Given the description of an element on the screen output the (x, y) to click on. 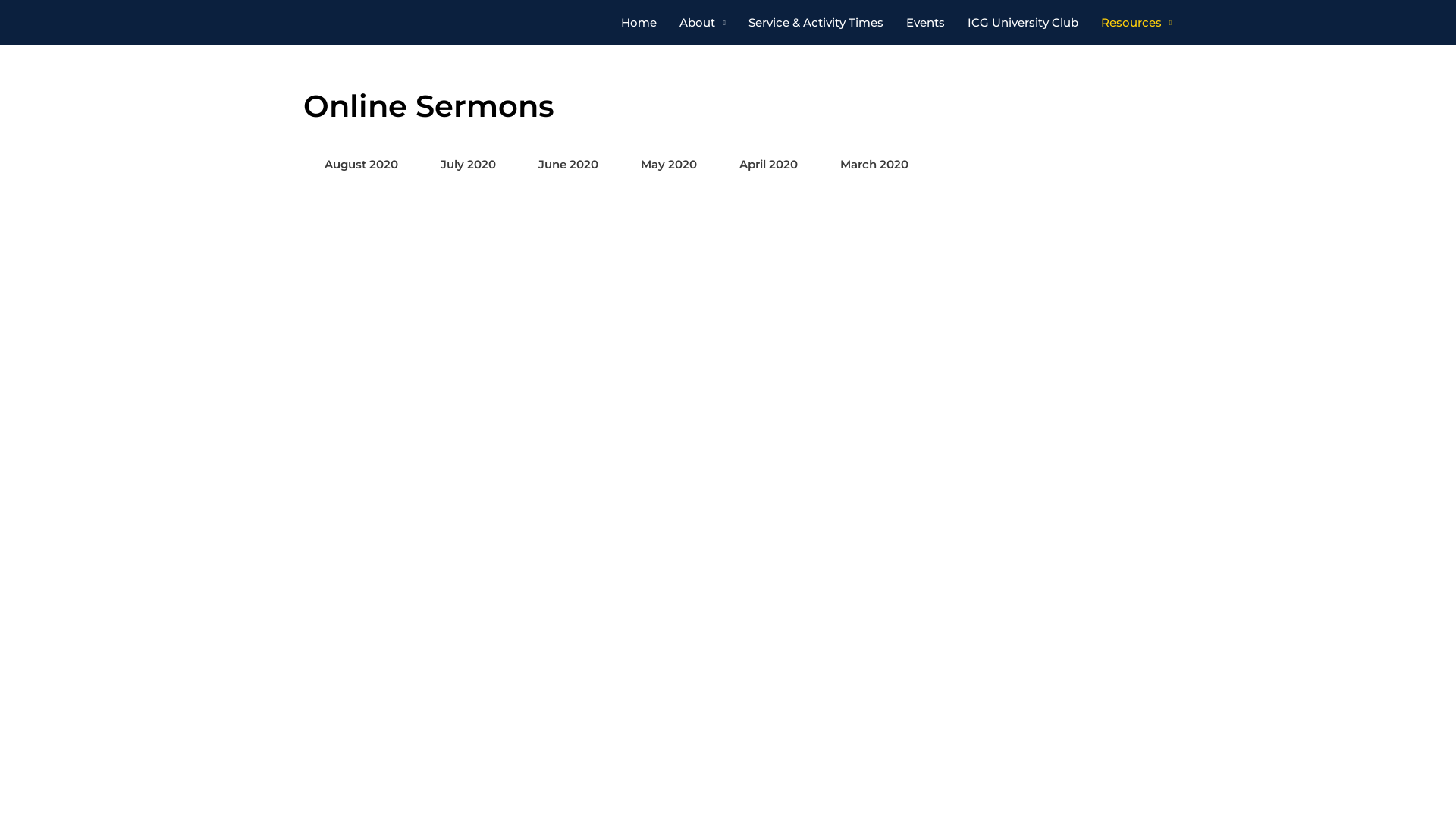
St John's Anglican Church, Keiraville Element type: hover (951, 315)
ICG University Club Element type: text (1022, 22)
Resources Element type: text (1136, 22)
About Element type: text (702, 22)
June 2020 Element type: text (568, 163)
Home Element type: text (638, 22)
Service & Activity Times Element type: text (815, 22)
May 2020 Element type: text (668, 163)
August 2020 Element type: text (361, 163)
Events Element type: text (925, 22)
April 2020 Element type: text (768, 163)
March 2020 Element type: text (874, 163)
July 2020 Element type: text (467, 163)
